Given the description of an element on the screen output the (x, y) to click on. 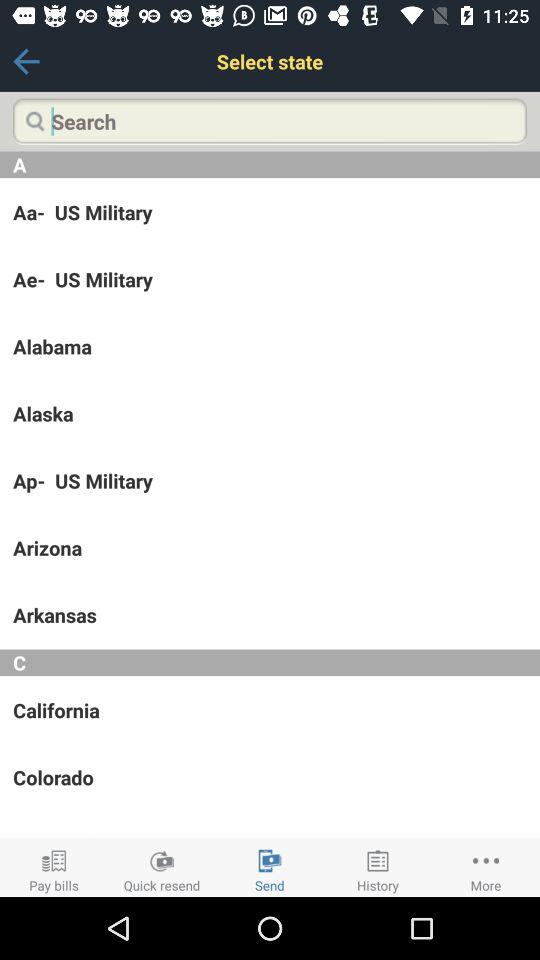
turn off alabama icon (270, 346)
